Given the description of an element on the screen output the (x, y) to click on. 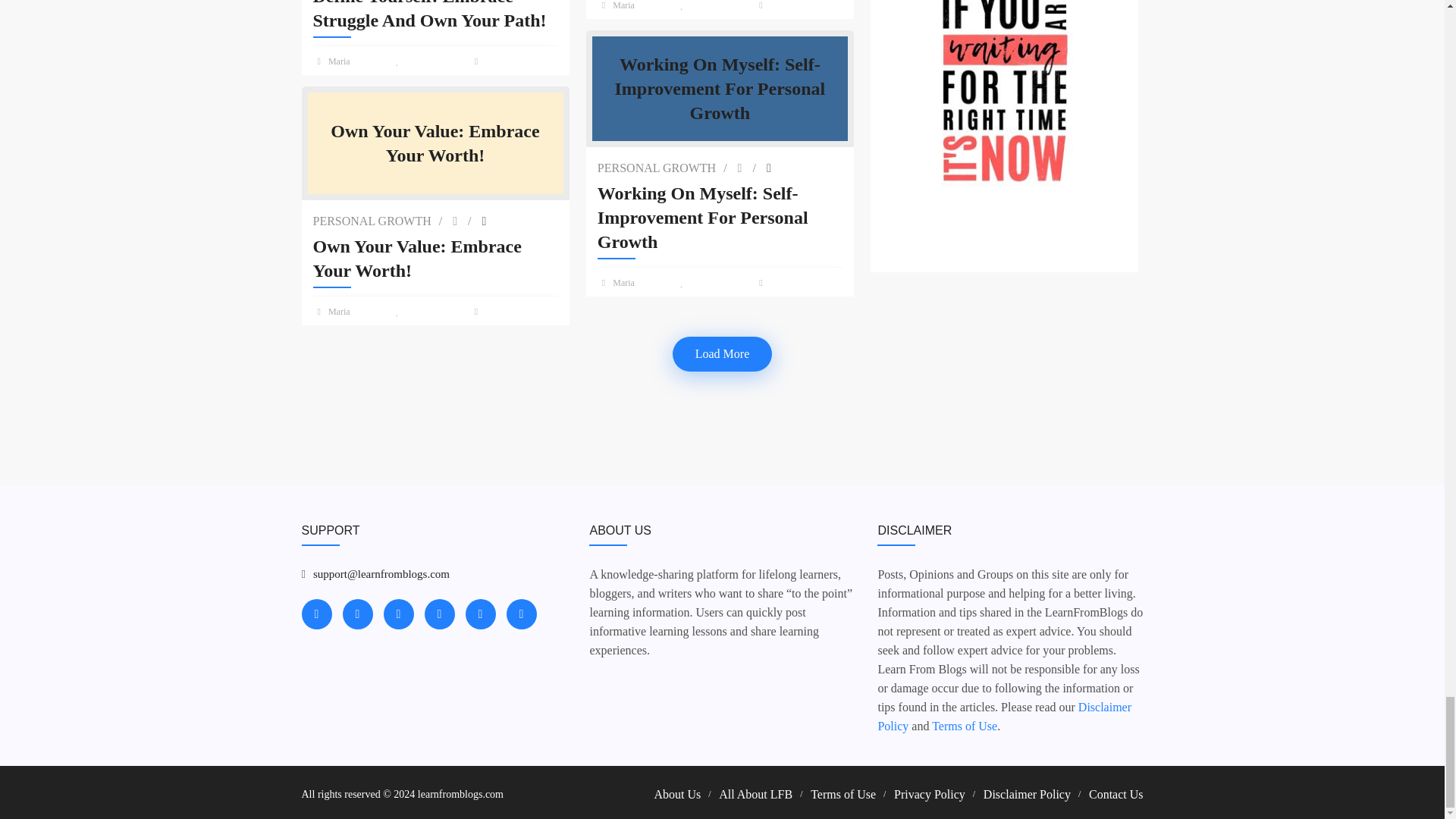
Working On Myself: Self-Improvement For Personal Growth (719, 216)
Own Your Value: Embrace Your Worth! (435, 258)
Define Yourself: Embrace Struggle And Own Your Path! (435, 16)
Load More (721, 353)
